Given the description of an element on the screen output the (x, y) to click on. 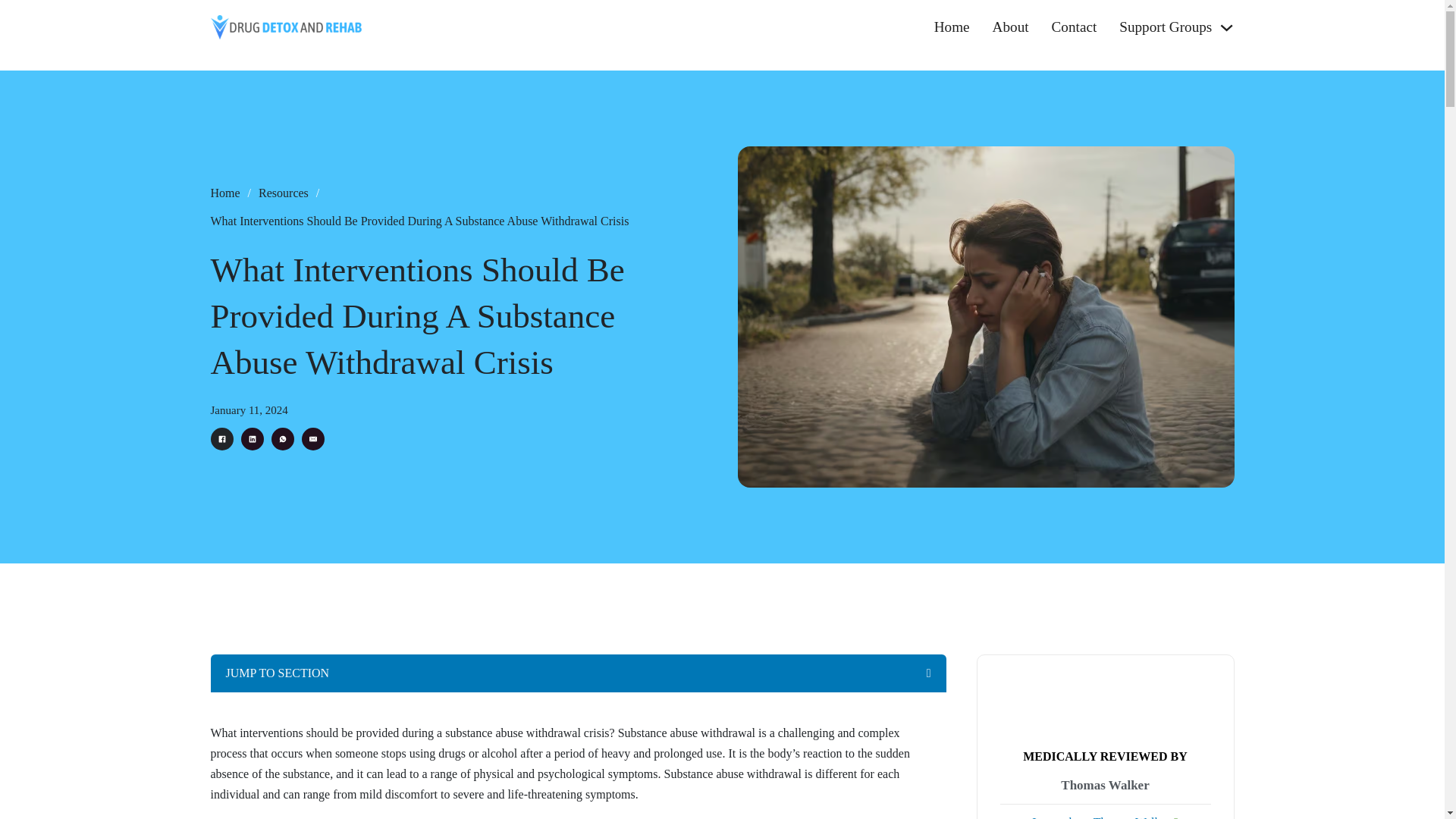
About (1010, 27)
Contact (1074, 27)
MEDICALLY REVIEWED BY (1105, 756)
Resources (283, 192)
Home (951, 27)
Thomas Walker (1104, 785)
Support Groups (1165, 27)
Home (225, 192)
